Given the description of an element on the screen output the (x, y) to click on. 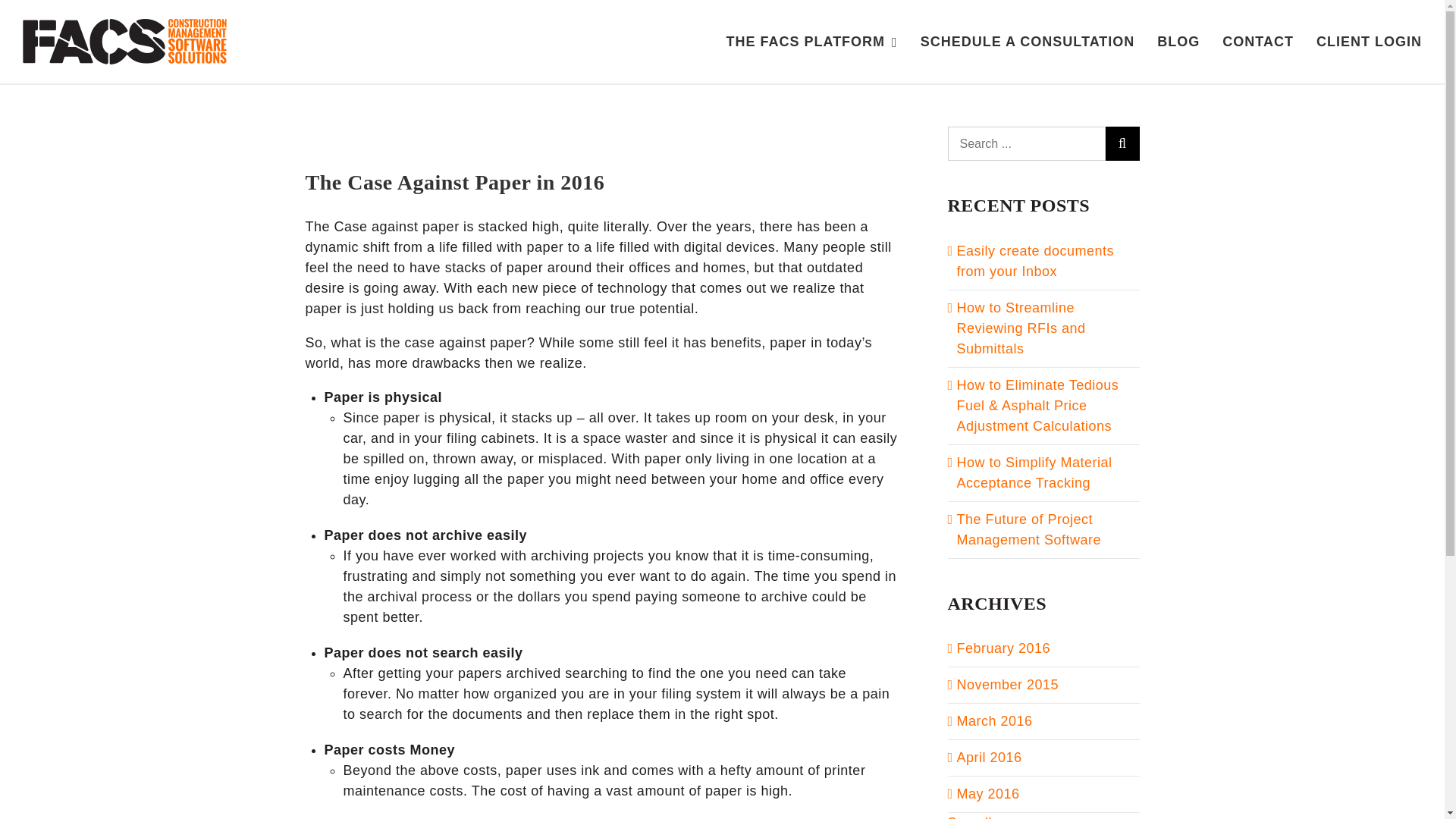
May 2016 (988, 793)
CLIENT LOGIN (1369, 41)
SCHEDULE A CONSULTATION (1027, 41)
November 2015 (1007, 684)
The Future of Project Management Software (1029, 529)
Easily create documents from your Inbox (1035, 261)
How to Simplify Material Acceptance Tracking (1034, 472)
April 2016 (989, 757)
March 2016 (994, 720)
THE FACS PLATFORM (810, 41)
